Given the description of an element on the screen output the (x, y) to click on. 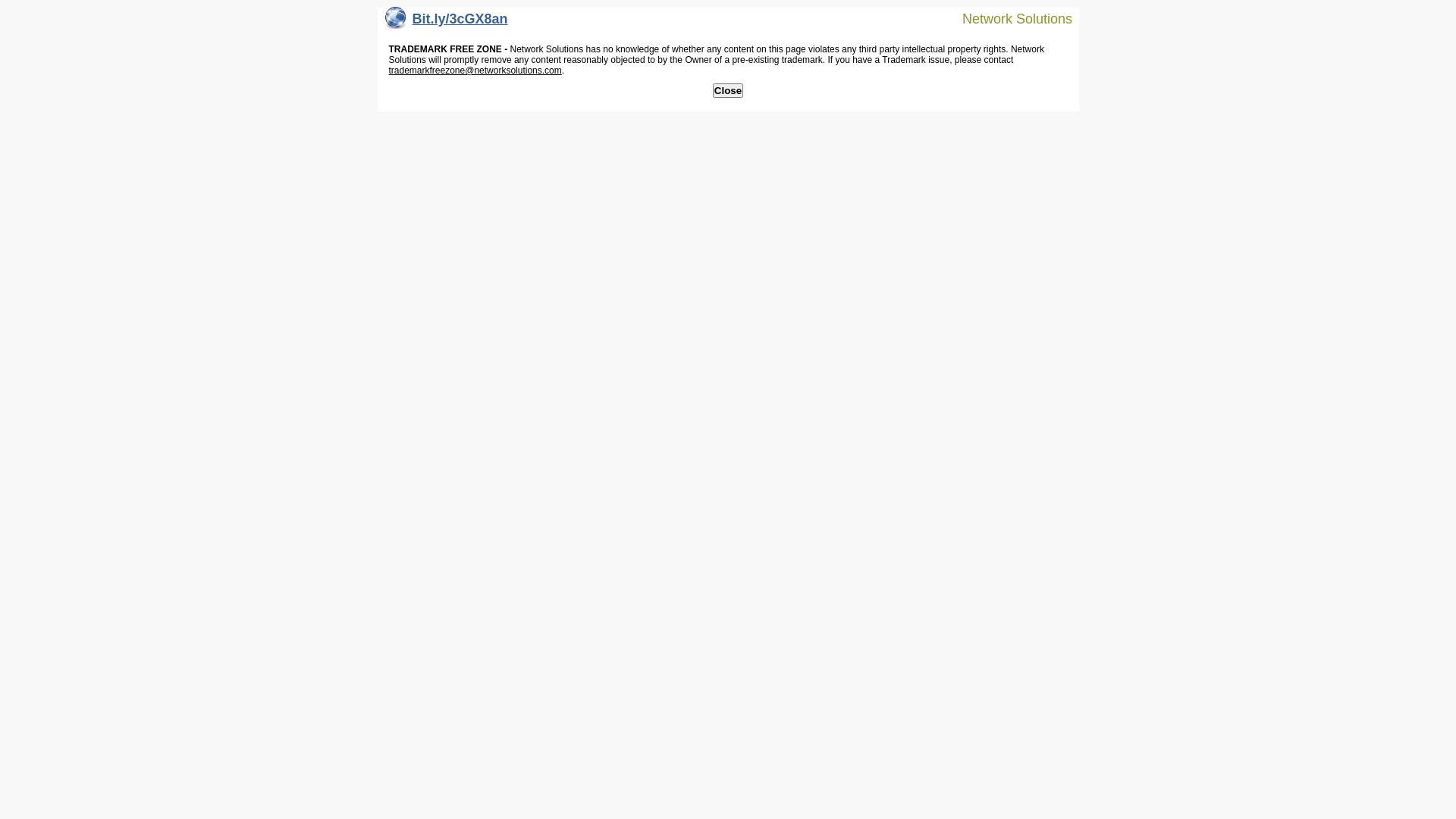
Network Solutions Element type: text (1007, 17)
trademarkfreezone@networksolutions.com Element type: text (474, 70)
Close Element type: text (727, 90)
Bit.ly/3cGX8an Element type: text (446, 21)
